Given the description of an element on the screen output the (x, y) to click on. 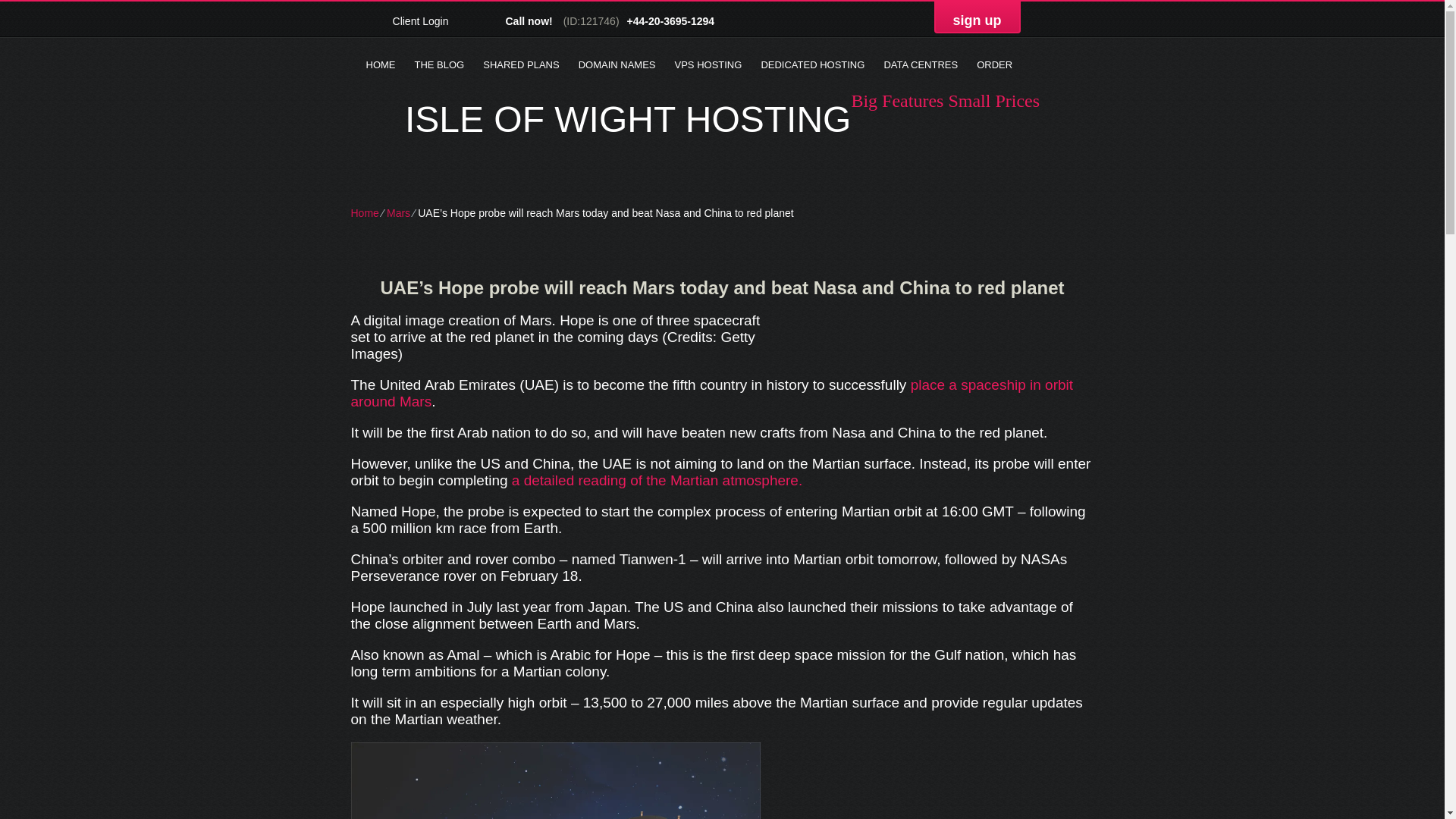
Mars (398, 213)
Client Login (411, 20)
sign up (976, 20)
DOMAIN NAMES (616, 65)
VPS HOSTING (707, 65)
SHARED PLANS (521, 65)
a detailed reading of the Martian atmosphere. (657, 480)
DEDICATED HOSTING (812, 65)
ORDER (994, 65)
ISLE OF WIGHT HOSTING (627, 119)
DATA CENTRES (920, 65)
sign up (976, 20)
place a spaceship in orbit around Mars (711, 392)
THE BLOG (438, 65)
Home (364, 213)
